Given the description of an element on the screen output the (x, y) to click on. 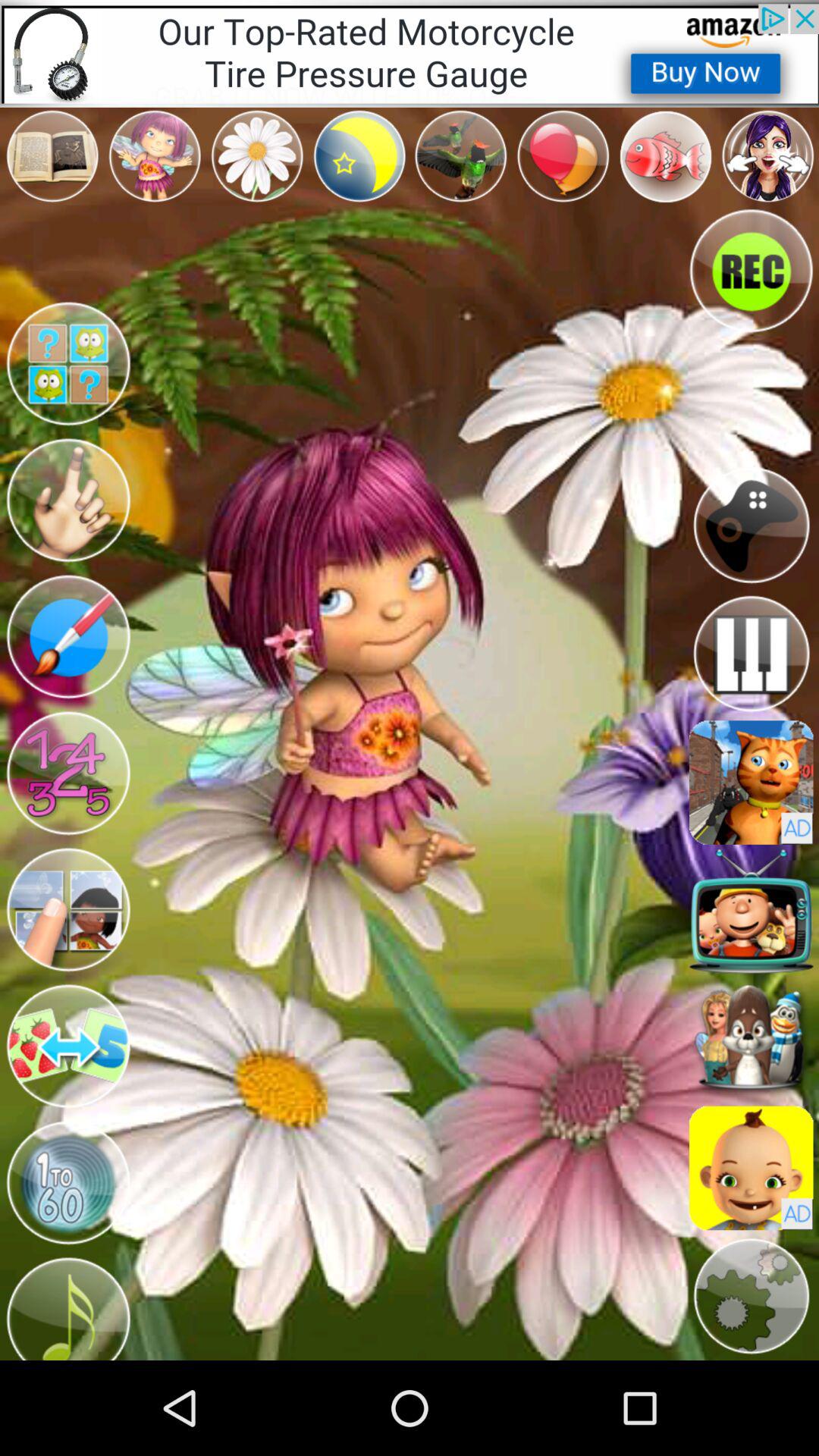
select the option (68, 363)
